Given the description of an element on the screen output the (x, y) to click on. 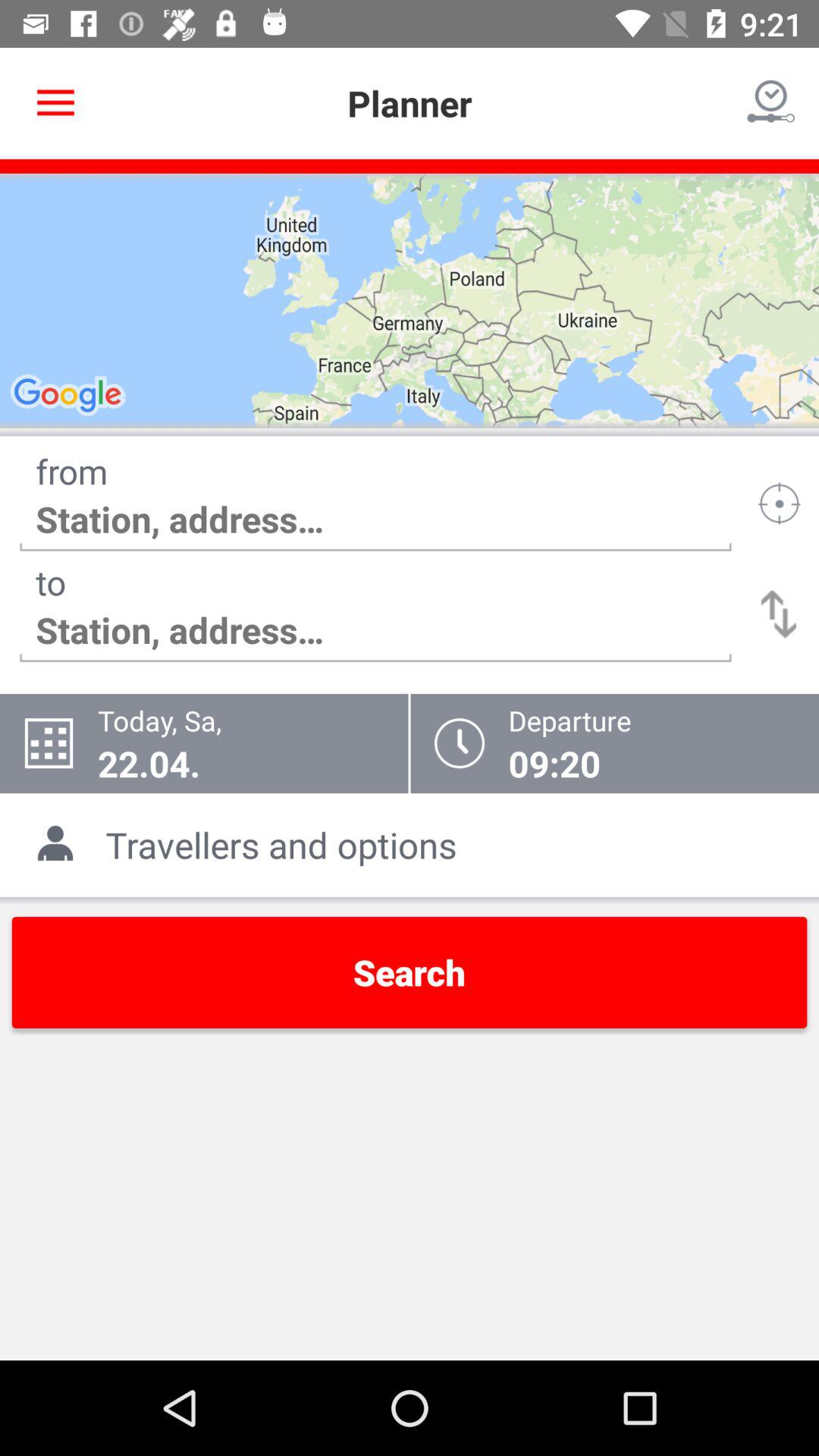
launch item at the top right corner (771, 103)
